Given the description of an element on the screen output the (x, y) to click on. 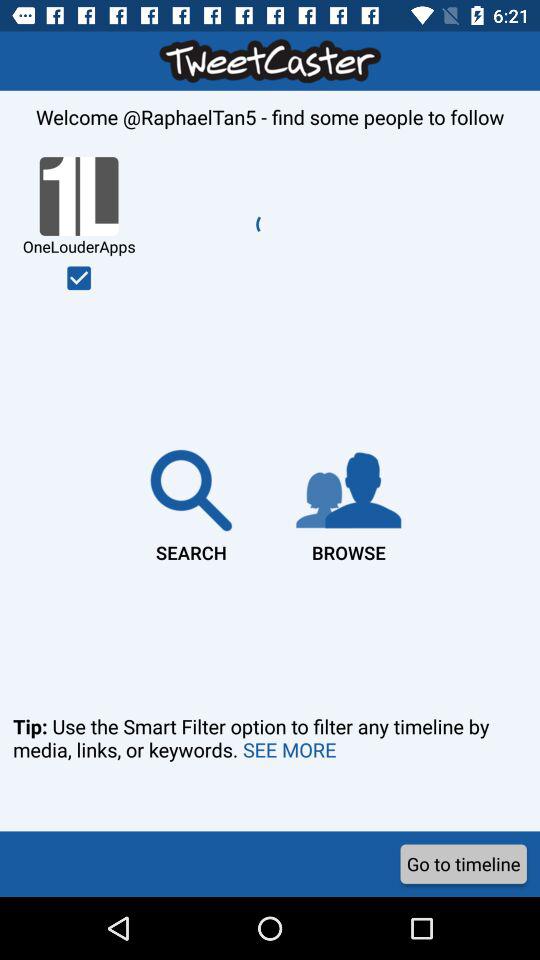
turn off item next to search (348, 502)
